Given the description of an element on the screen output the (x, y) to click on. 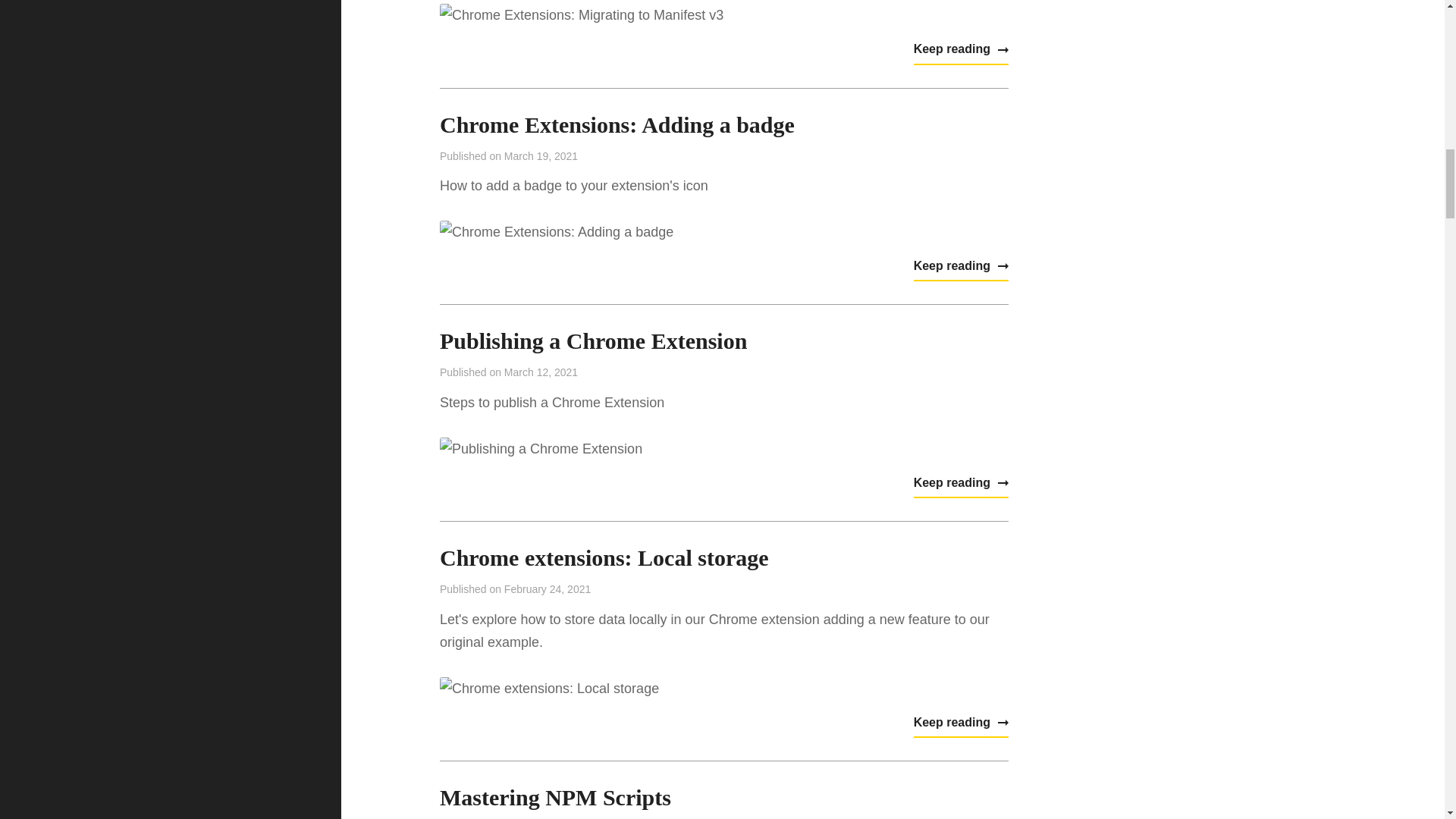
Publishing a Chrome Extension (592, 340)
Keep reading (961, 483)
Chrome Extensions: Adding a badge (616, 124)
Chrome extensions: Local storage (603, 557)
Keep reading (961, 723)
Keep reading (961, 50)
Keep reading (961, 266)
